Given the description of an element on the screen output the (x, y) to click on. 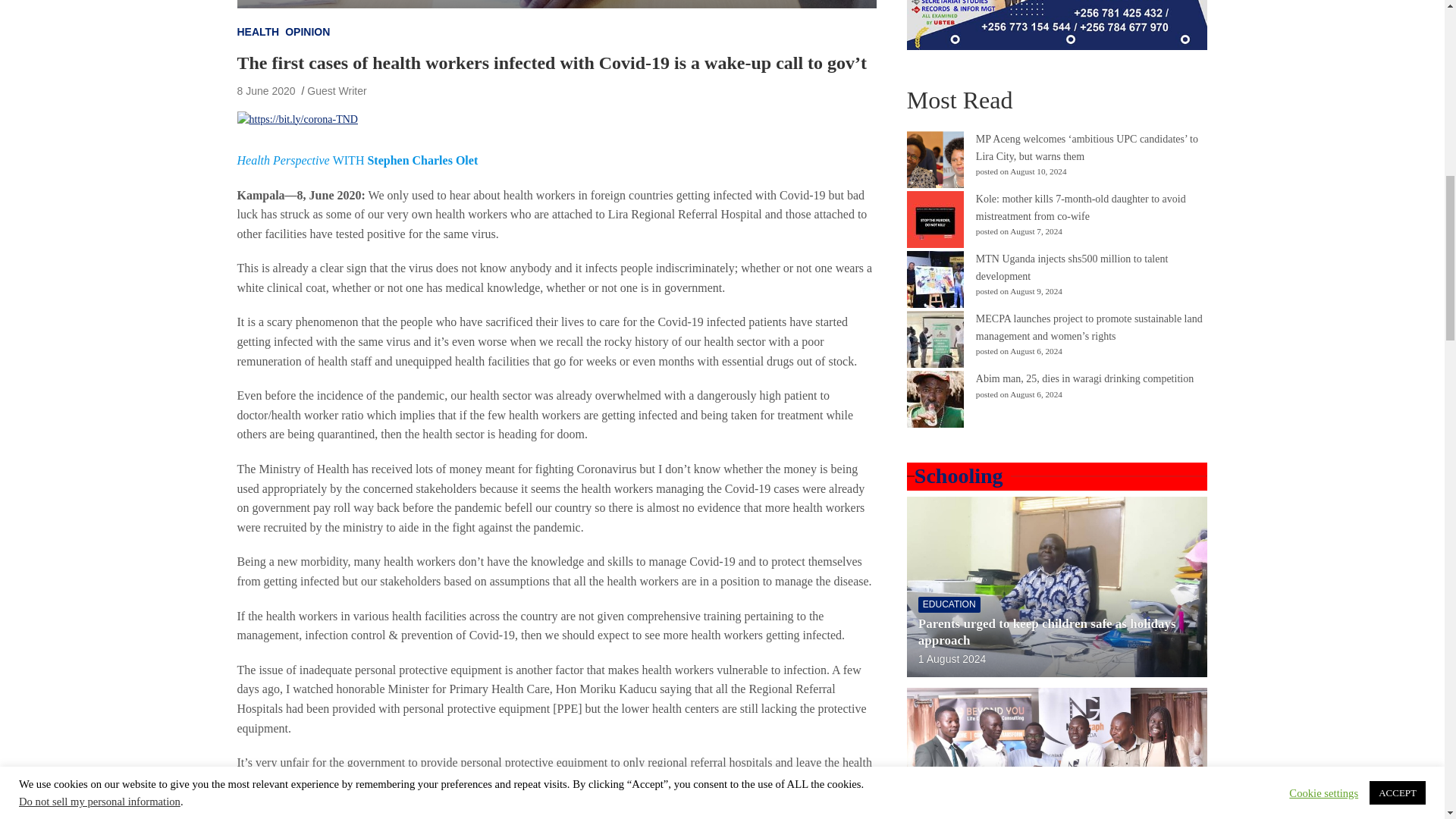
Parents urged to keep children safe as holidays approach (952, 659)
OPINION (307, 31)
HEALTH (257, 31)
8 June 2020 (265, 91)
Guest Writer (336, 91)
